Given the description of an element on the screen output the (x, y) to click on. 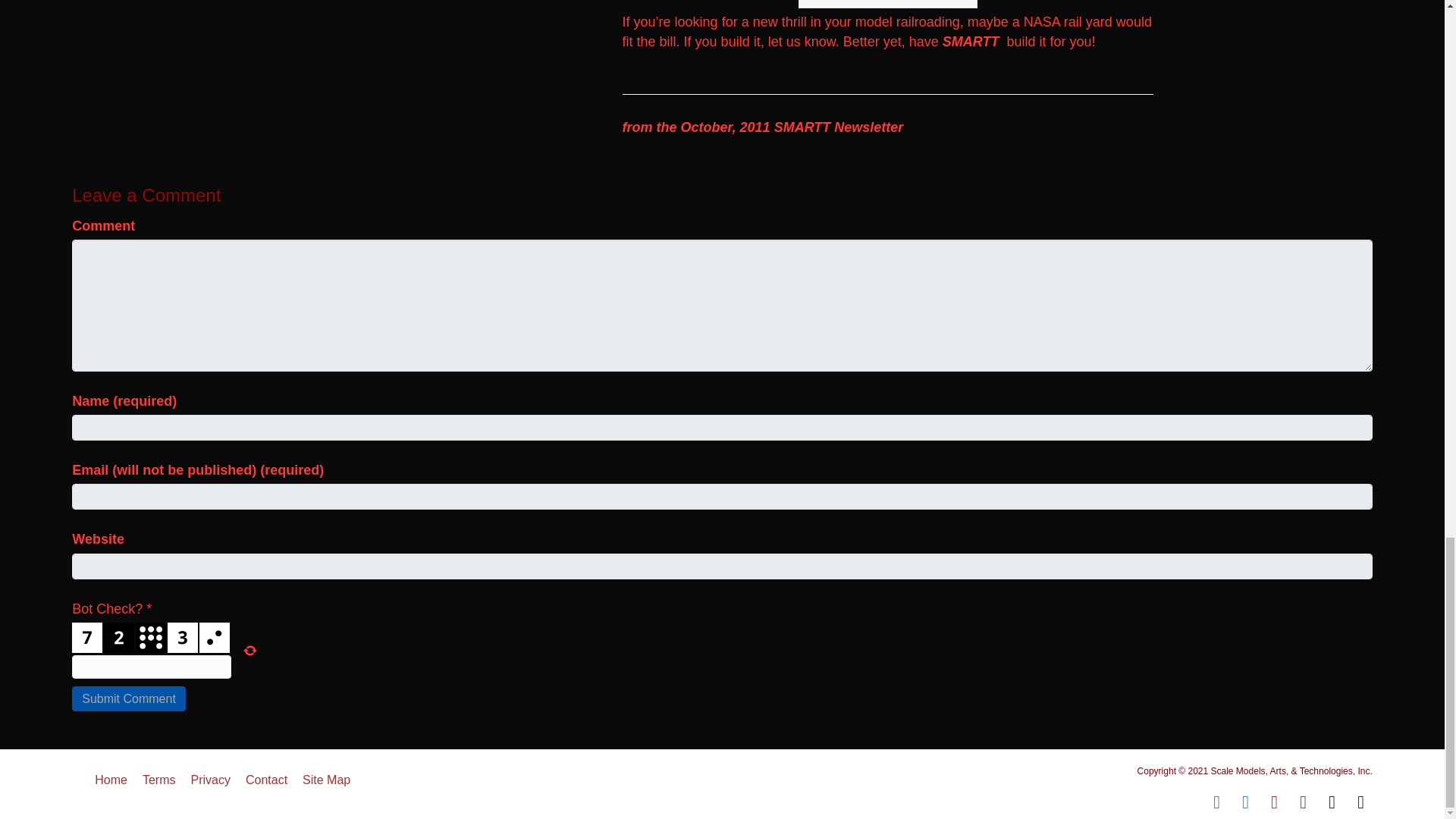
Submit Comment (128, 698)
